Given the description of an element on the screen output the (x, y) to click on. 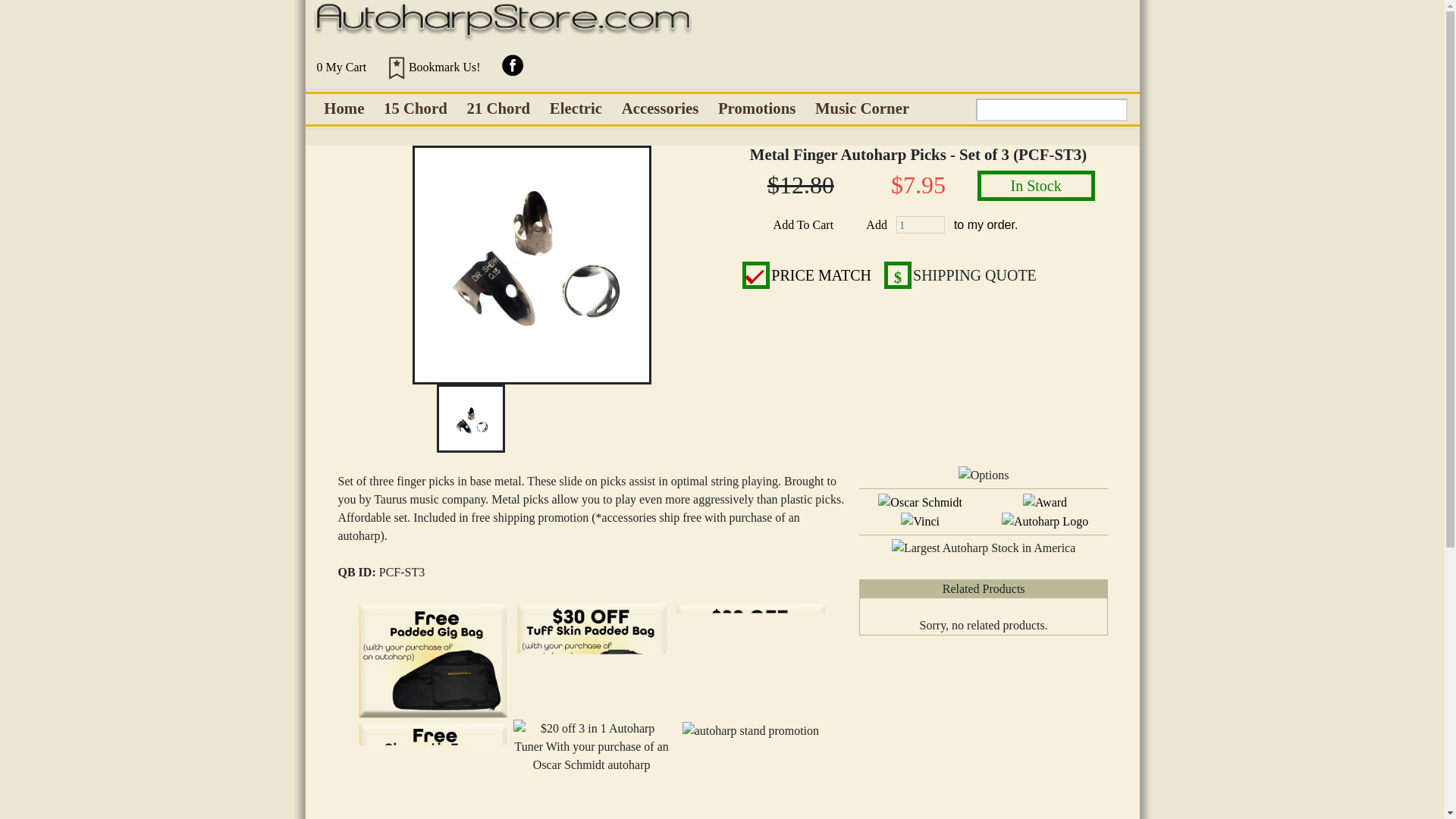
21 Chord (498, 108)
0 My Cart (340, 64)
Promotions (756, 108)
Home (344, 108)
1 (920, 225)
Electric (575, 108)
Music Corner (861, 108)
15 Chord (415, 108)
Add To Cart (802, 224)
SHIPPING QUOTE (974, 274)
